Given the description of an element on the screen output the (x, y) to click on. 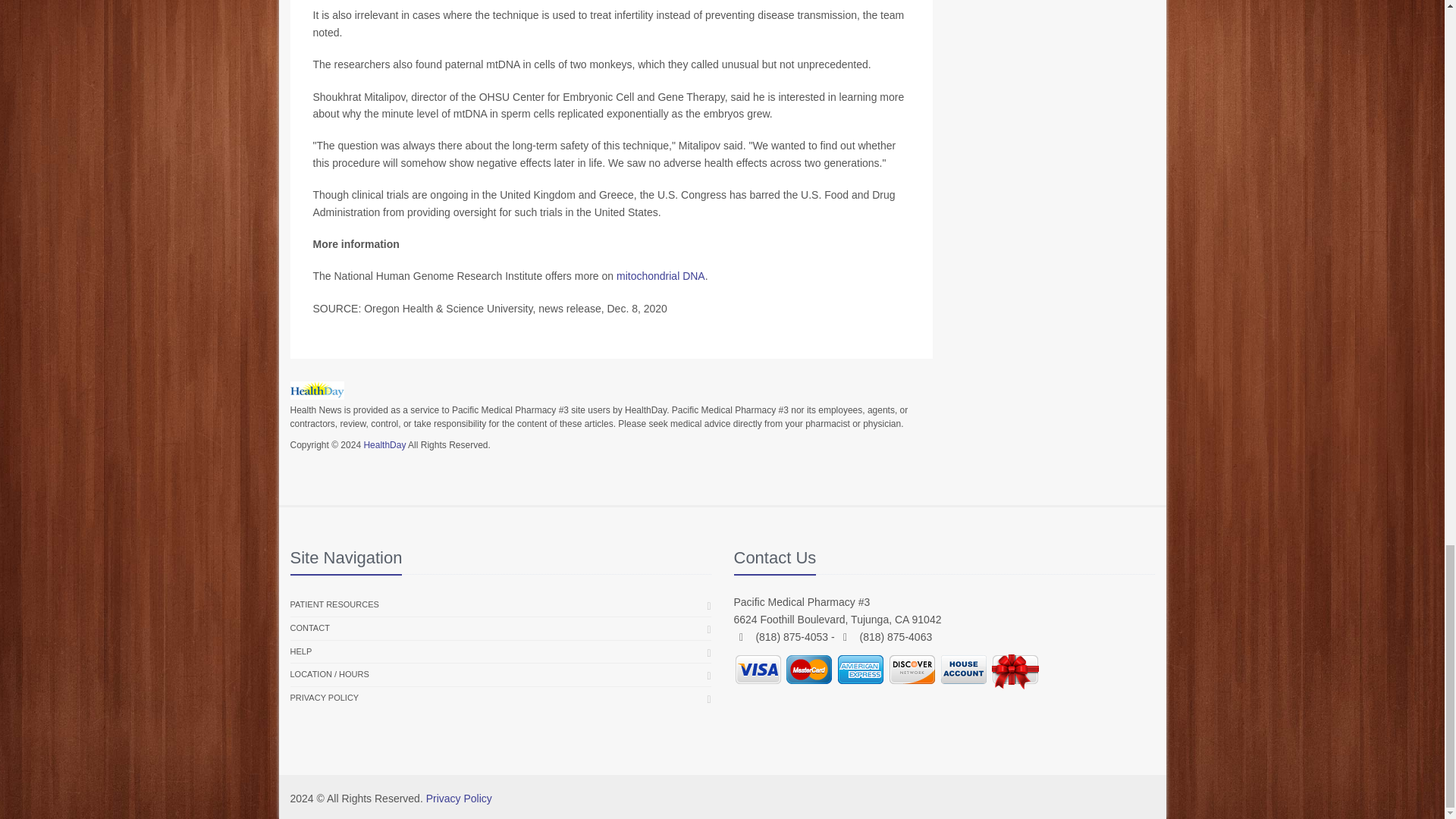
HealthDay (384, 444)
mitochondrial DNA (659, 275)
